Given the description of an element on the screen output the (x, y) to click on. 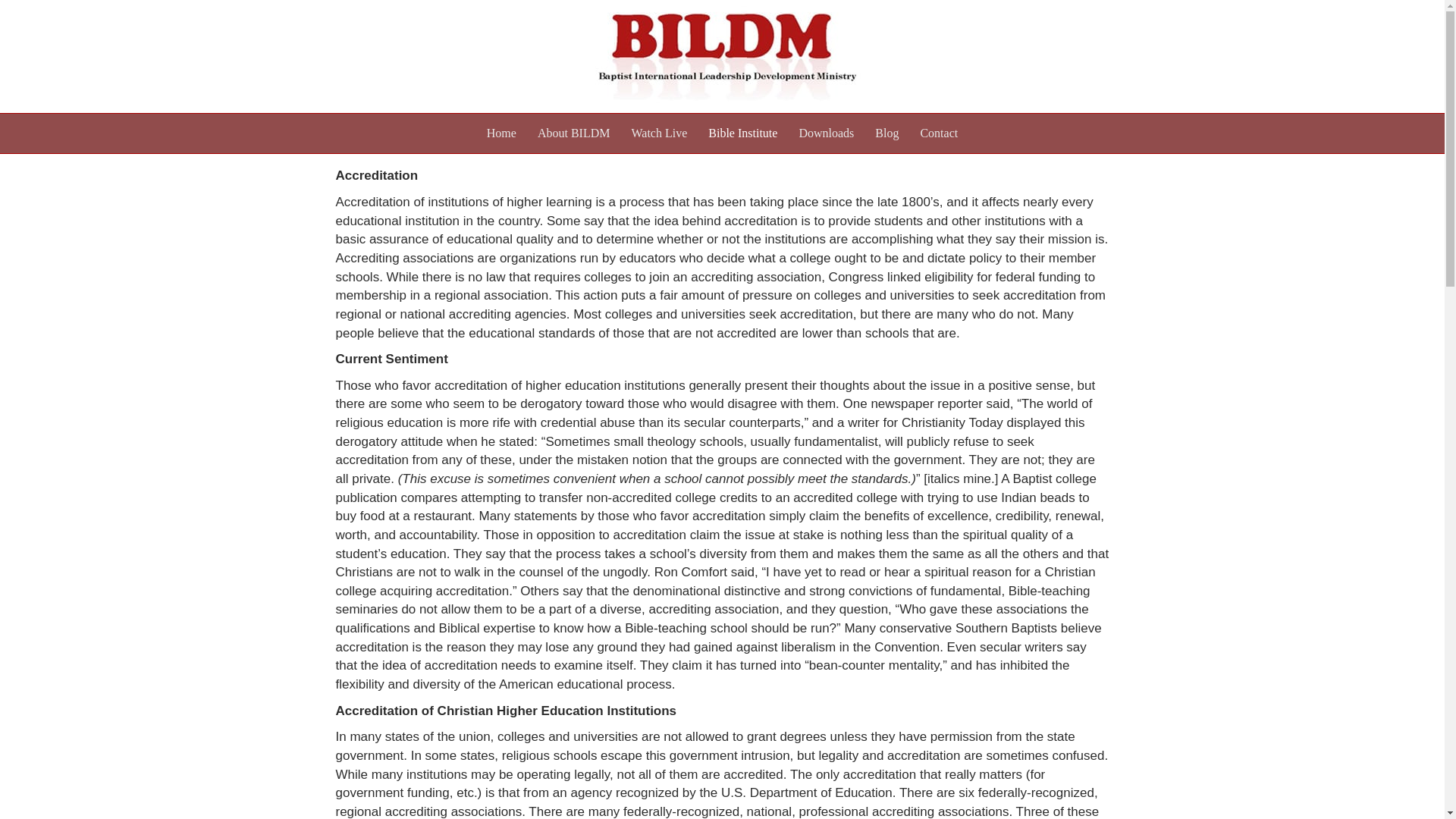
Blog (886, 133)
Watch Live (658, 133)
About BILDM (574, 133)
Bible Institute (742, 133)
Downloads (826, 133)
Home (501, 133)
Contact (938, 133)
